Given the description of an element on the screen output the (x, y) to click on. 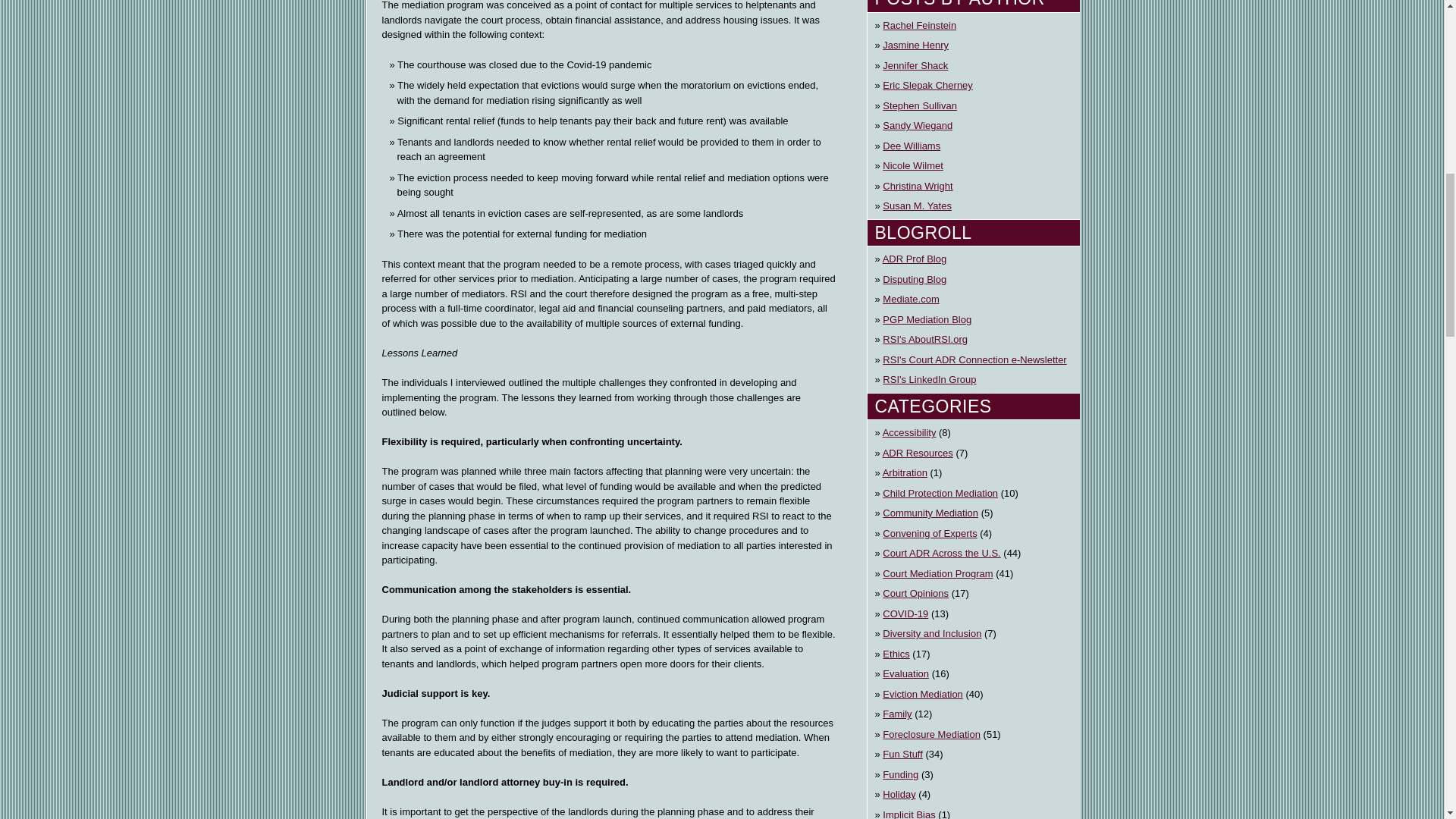
Posts by Sandy Wiegand (917, 125)
Posts by Dee Williams (911, 145)
ADR Prof Blog (914, 258)
Jennifer Shack (914, 65)
Posts by Nicole Wilmet (912, 165)
Disputing Blog (914, 279)
Susan M. Yates (917, 205)
RSI's AboutRSI.org (925, 339)
Posts by Jasmine Henry (915, 45)
Posts by Susan M. Yates (917, 205)
